Given the description of an element on the screen output the (x, y) to click on. 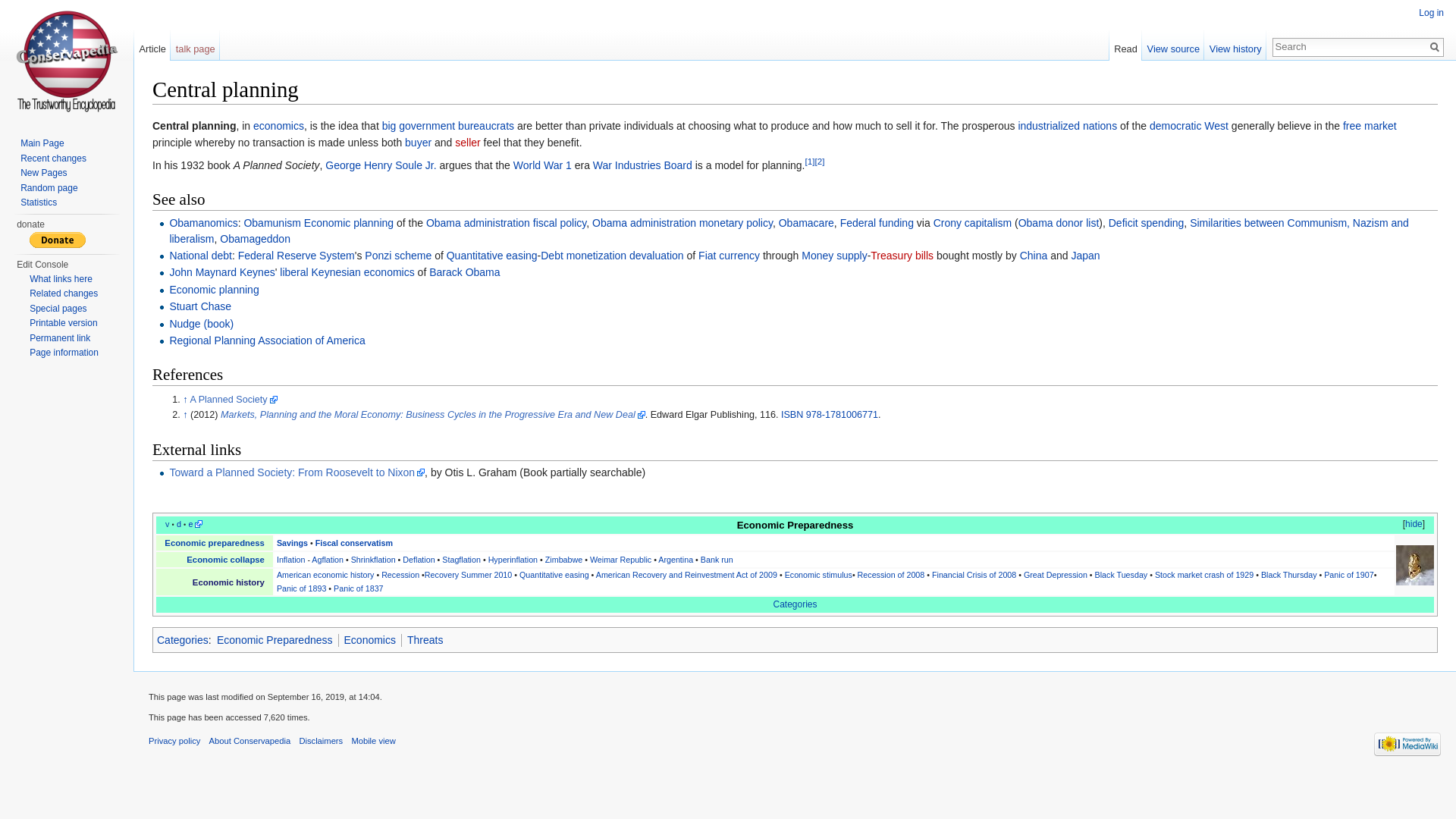
Similarities between Communism, Nazism and liberalism (787, 230)
Debt monetization (583, 255)
democratic (1175, 125)
Buyer (417, 142)
Obama administration monetary policy (682, 223)
War Industries Board (642, 164)
Obama administration fiscal policy (506, 223)
Obama administration fiscal policy (506, 223)
China (1034, 255)
free market (1369, 125)
Obamunism (271, 223)
Obamacare (806, 223)
Federal funding (877, 223)
National debt (199, 255)
The West (1216, 125)
